Given the description of an element on the screen output the (x, y) to click on. 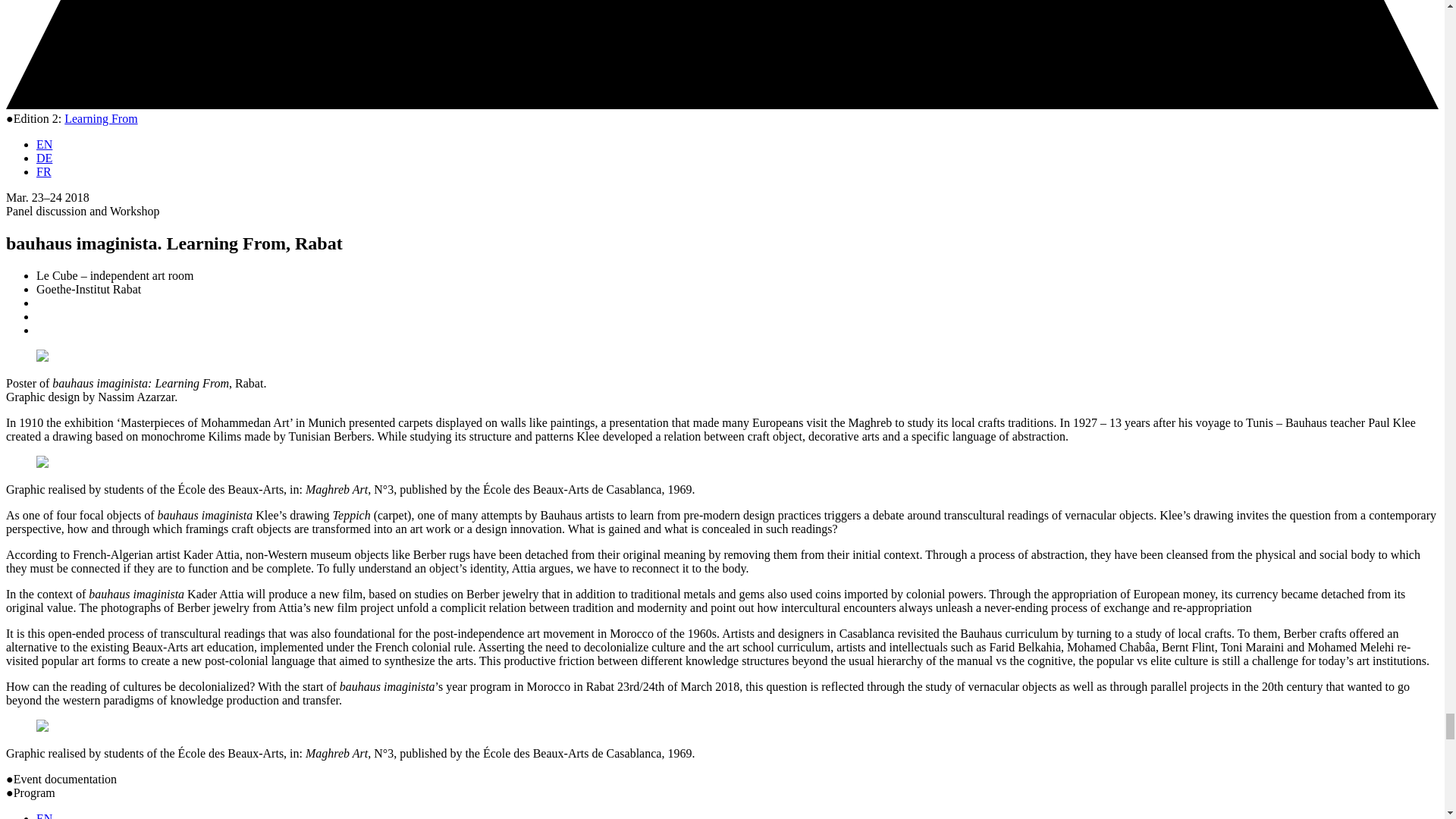
DE (44, 157)
Learning From (100, 118)
EN (44, 815)
EN (44, 144)
FR (43, 171)
